Given the description of an element on the screen output the (x, y) to click on. 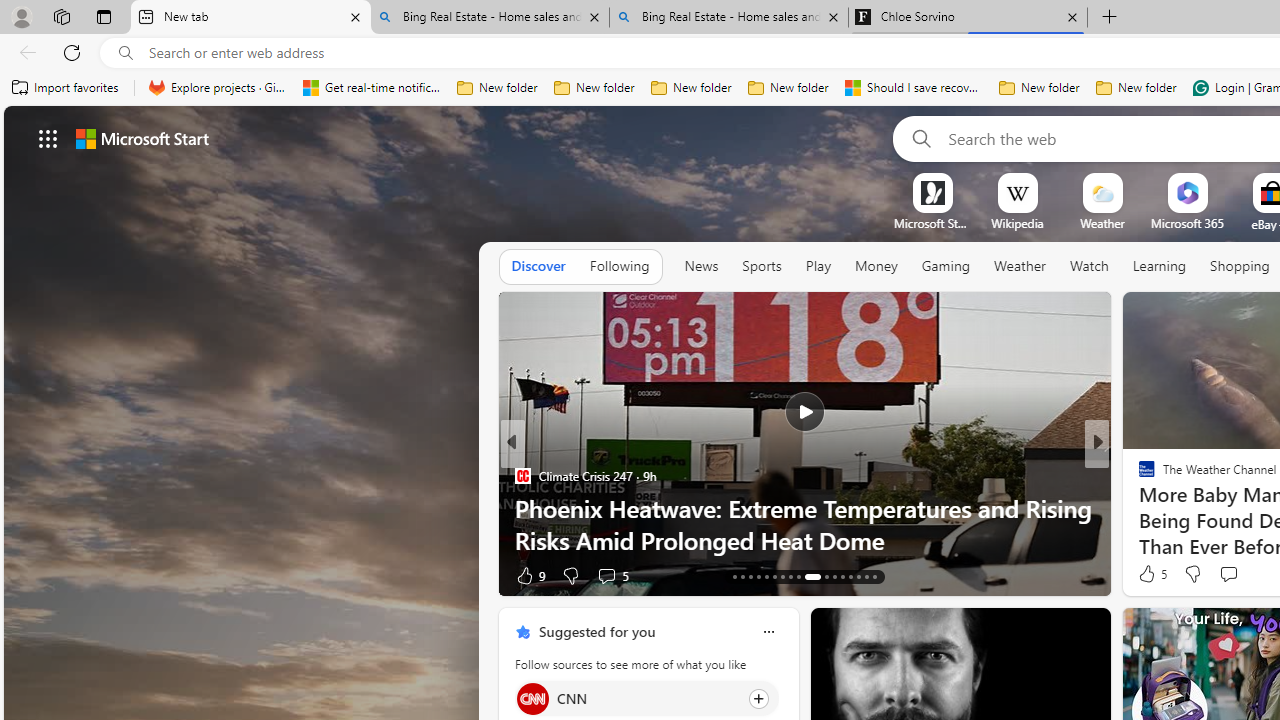
Import favorites (65, 88)
AutomationID: tab-15 (750, 576)
View comments 6 Comment (1234, 575)
View comments 1 Comment (1229, 575)
View comments 247 Comment (11, 575)
AutomationID: tab-22 (806, 576)
